Given the description of an element on the screen output the (x, y) to click on. 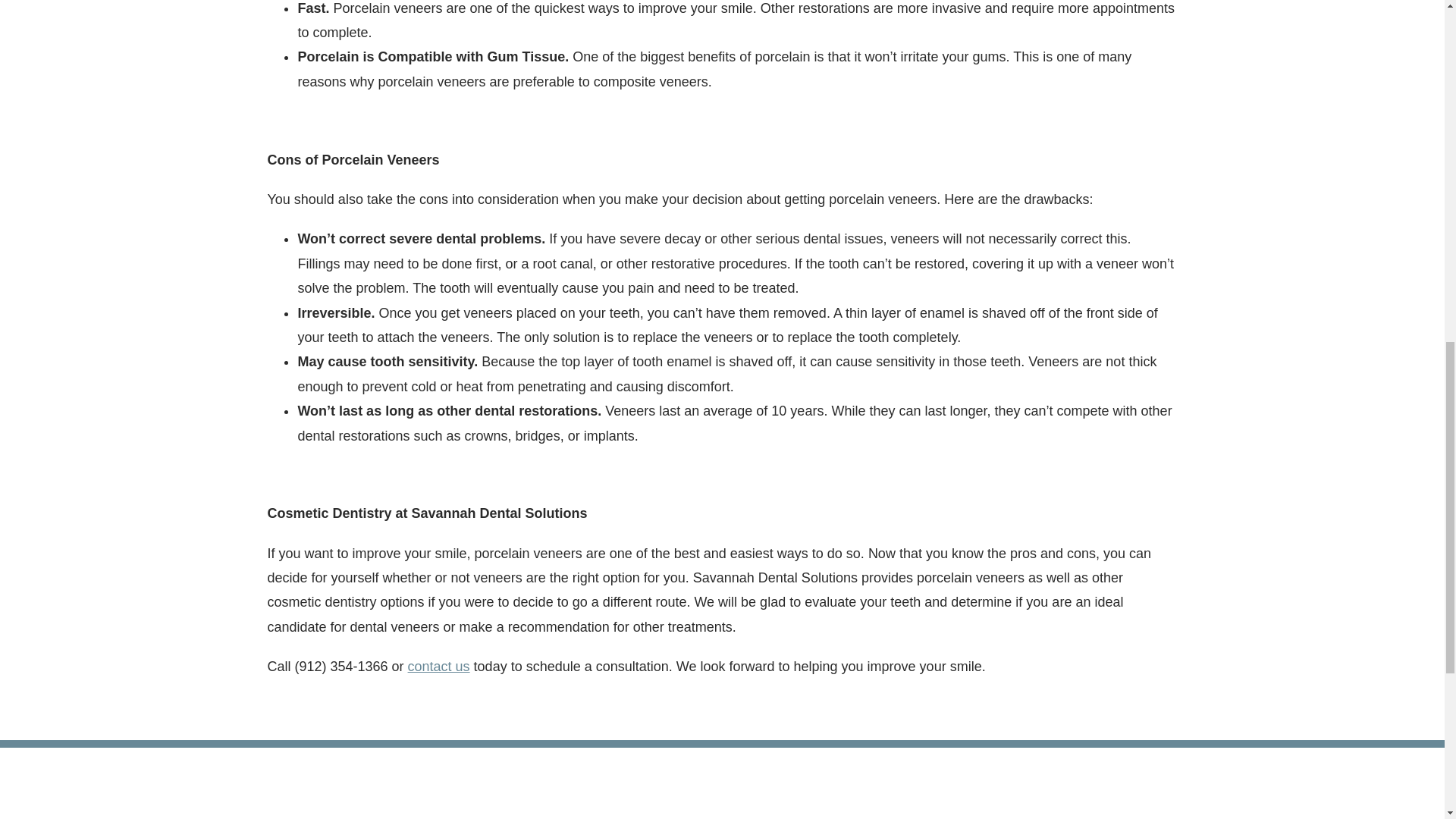
contact us (438, 666)
